Given the description of an element on the screen output the (x, y) to click on. 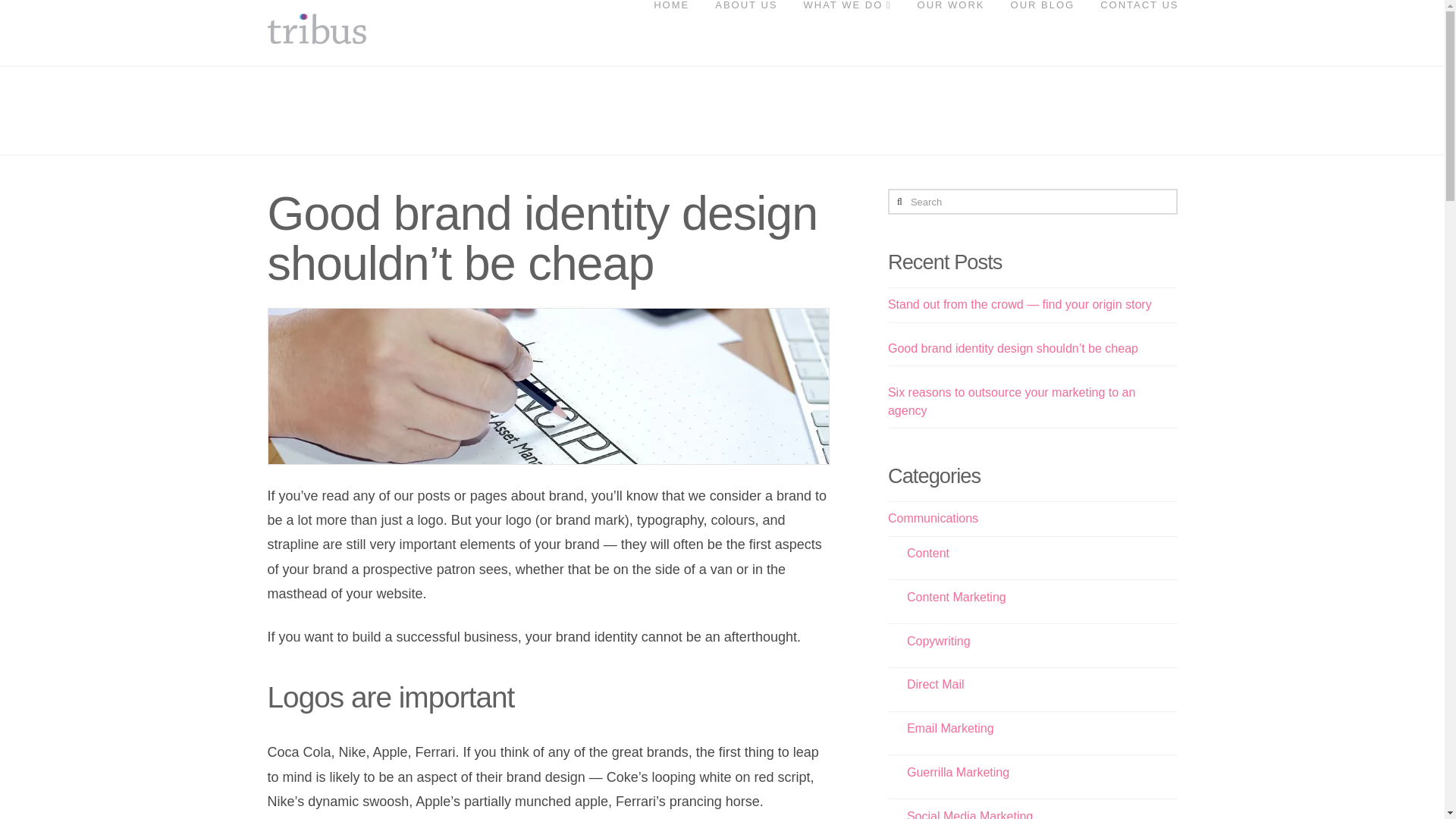
HOME (670, 28)
CONTACT US (1131, 28)
ABOUT US (745, 28)
OUR BLOG (1042, 28)
OUR WORK (950, 28)
WHAT WE DO (845, 28)
Building Brand Perception (315, 28)
